Given the description of an element on the screen output the (x, y) to click on. 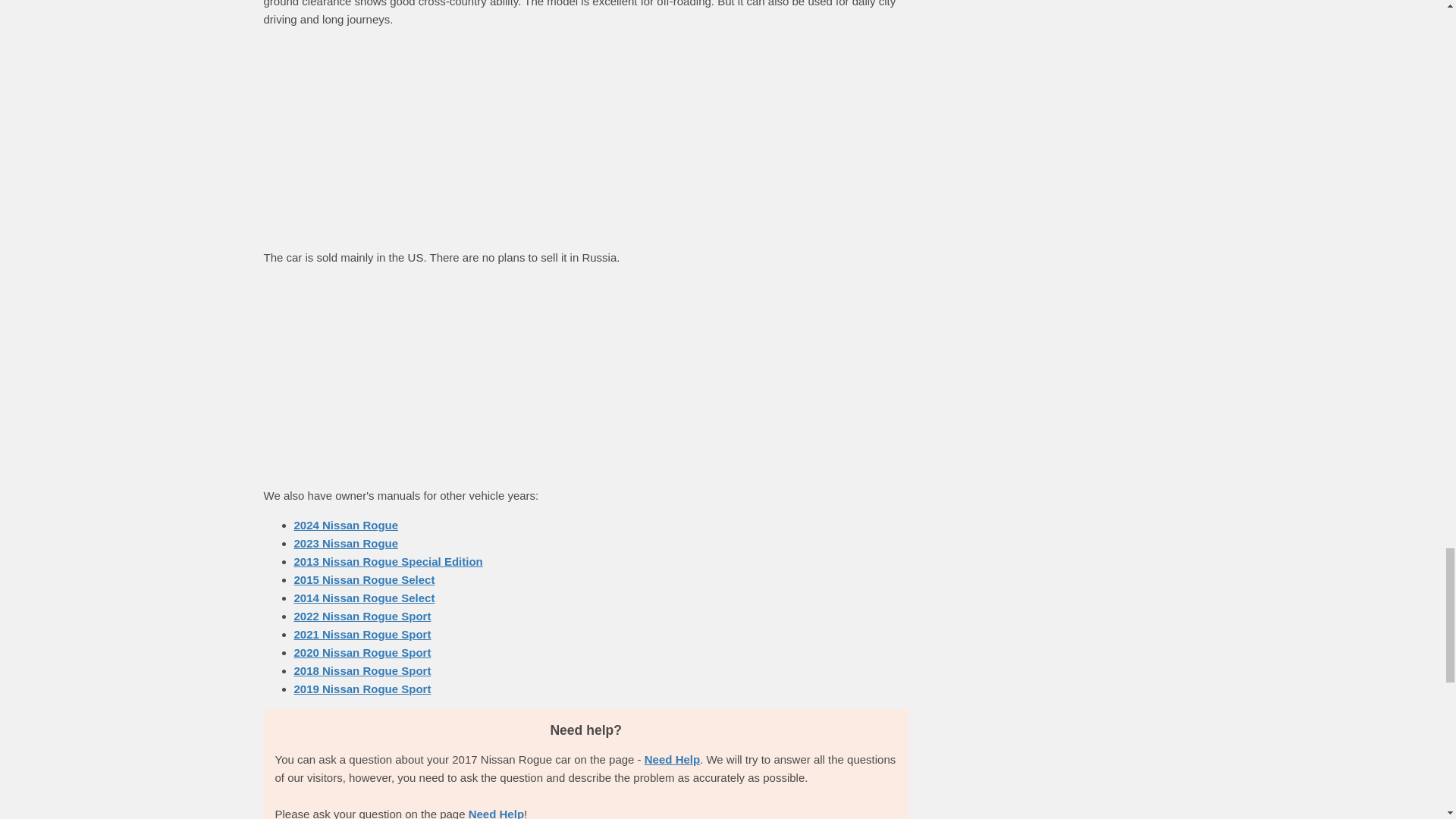
2013 Nissan Rogue Special Edition (388, 561)
2019 Nissan Rogue Sport (362, 688)
2018 Nissan Rogue Sport (362, 670)
2015 Nissan Rogue Select (364, 579)
2014 Nissan Rogue Select (364, 597)
2021 Nissan Rogue Sport (362, 634)
Need Help (672, 758)
2020 Nissan Rogue Sport (362, 652)
2023 Nissan Rogue (346, 543)
2022 Nissan Rogue Sport (362, 615)
